Given the description of an element on the screen output the (x, y) to click on. 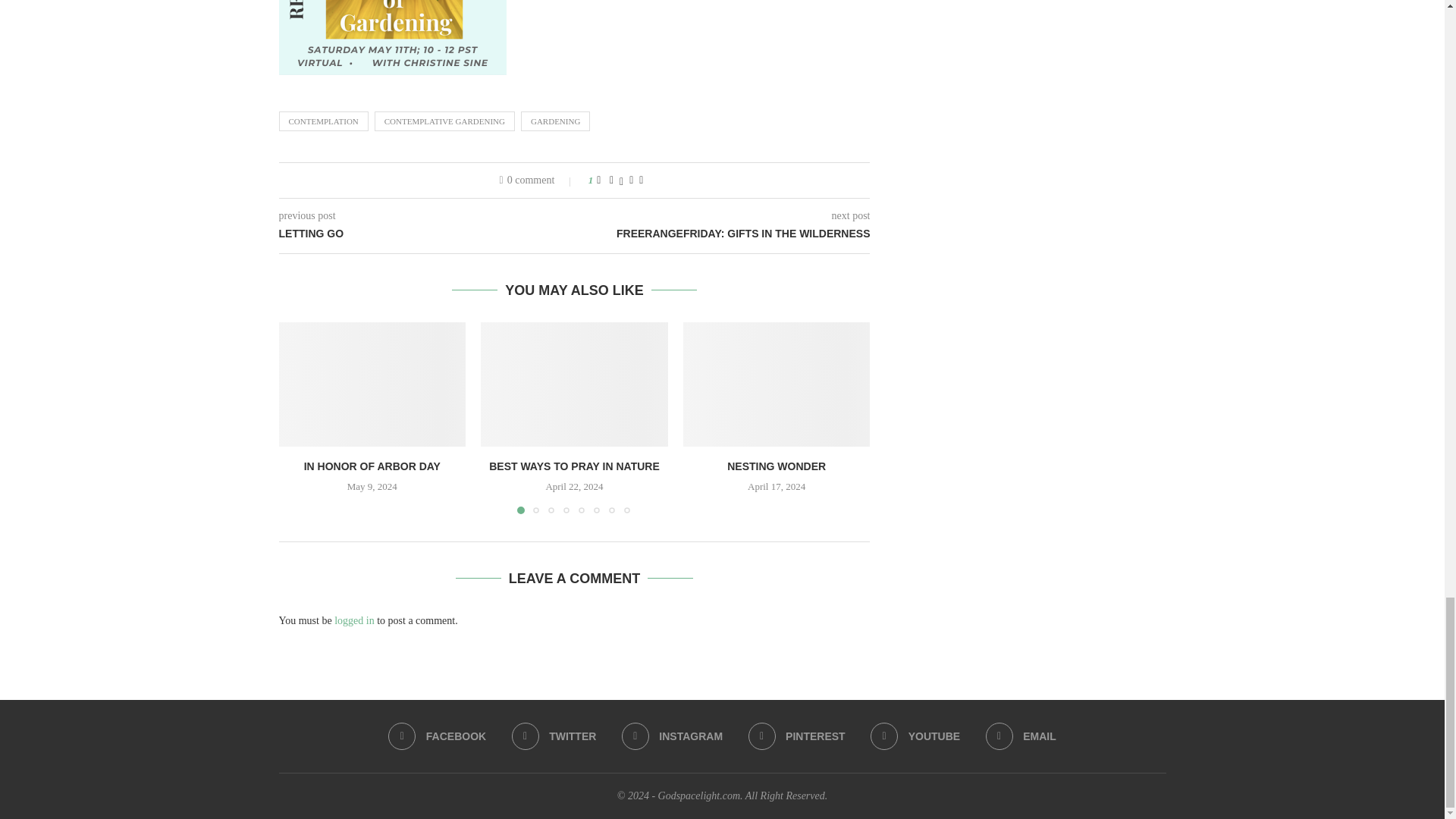
In Honor of Arbor Day (372, 384)
Nesting Wonder (776, 384)
Best Ways to Pray in Nature (574, 384)
